Given the description of an element on the screen output the (x, y) to click on. 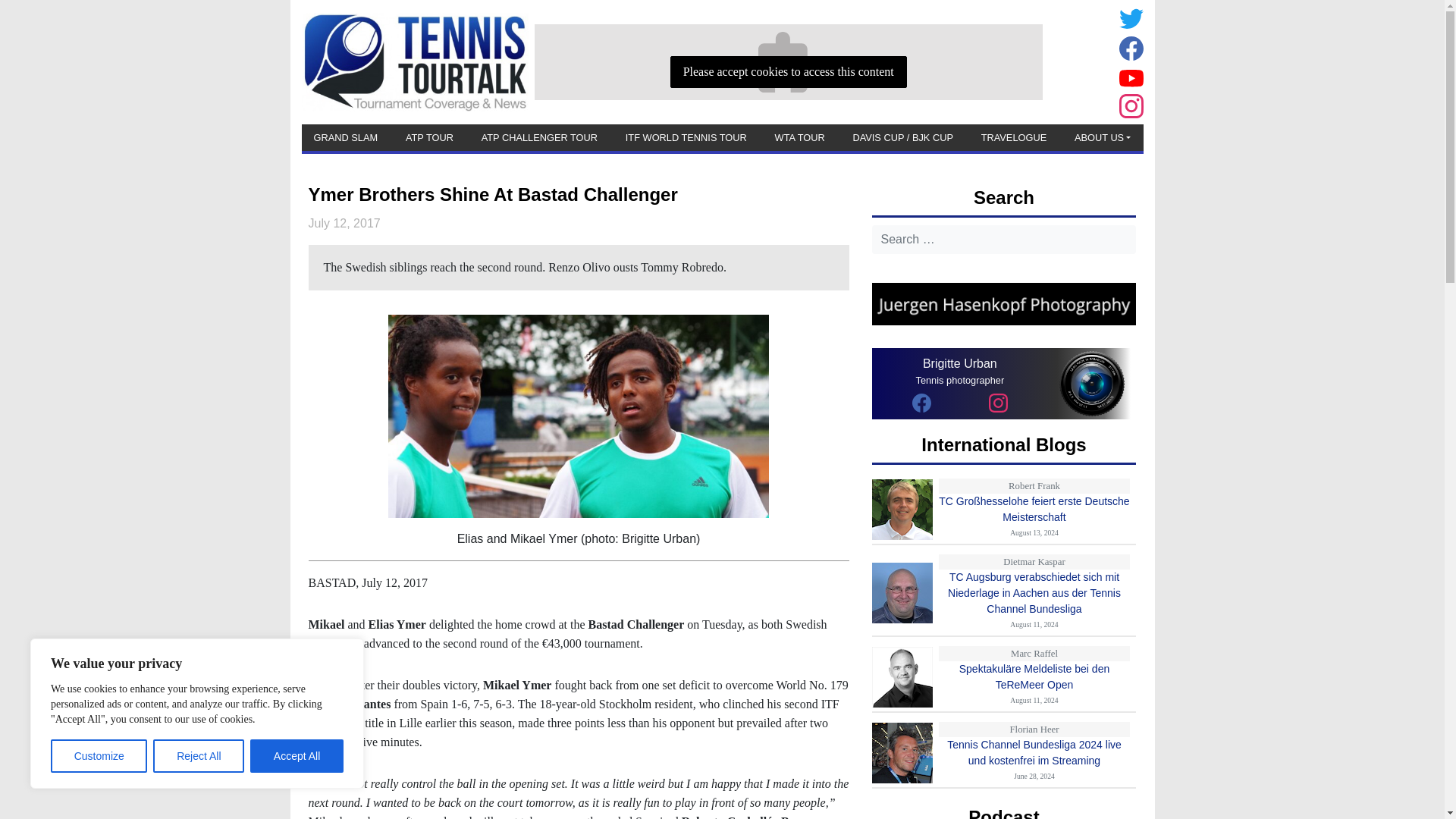
Reject All (198, 756)
WTA Tour (799, 137)
ITF World Tennis Tour (686, 137)
Accept All (296, 756)
Grand Slam (345, 137)
ITF WORLD TENNIS TOUR (686, 137)
Travelogue (1013, 137)
TRAVELOGUE (1013, 137)
GRAND SLAM (345, 137)
Tennis TourTalk (414, 60)
